Given the description of an element on the screen output the (x, y) to click on. 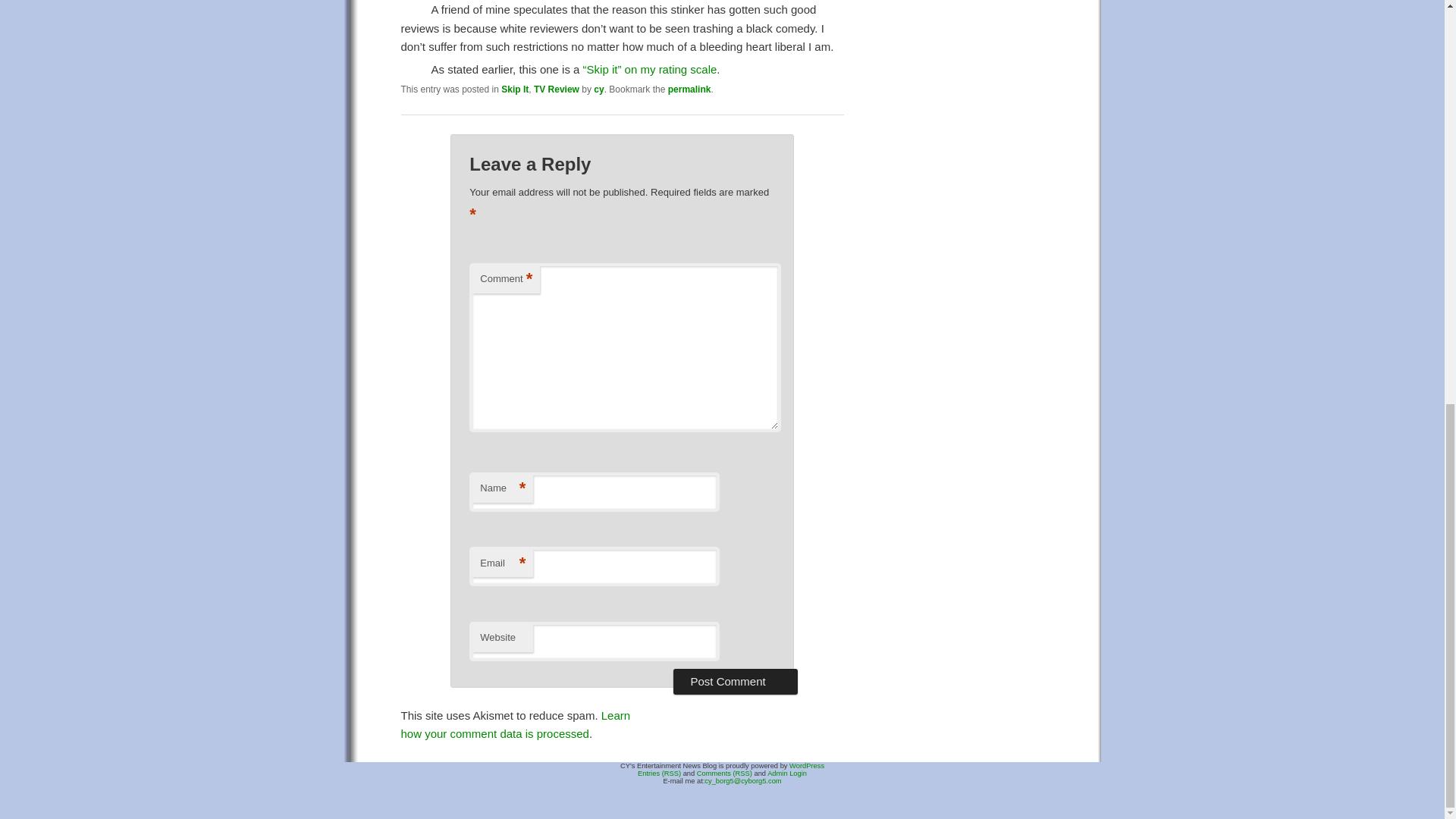
My TV Rating System (650, 69)
Post Comment (734, 681)
Post Comment (734, 681)
Permalink to Review: black-ish (689, 89)
TV Review (556, 89)
Learn how your comment data is processed (515, 724)
Skip It (514, 89)
cy (599, 89)
permalink (689, 89)
